Given the description of an element on the screen output the (x, y) to click on. 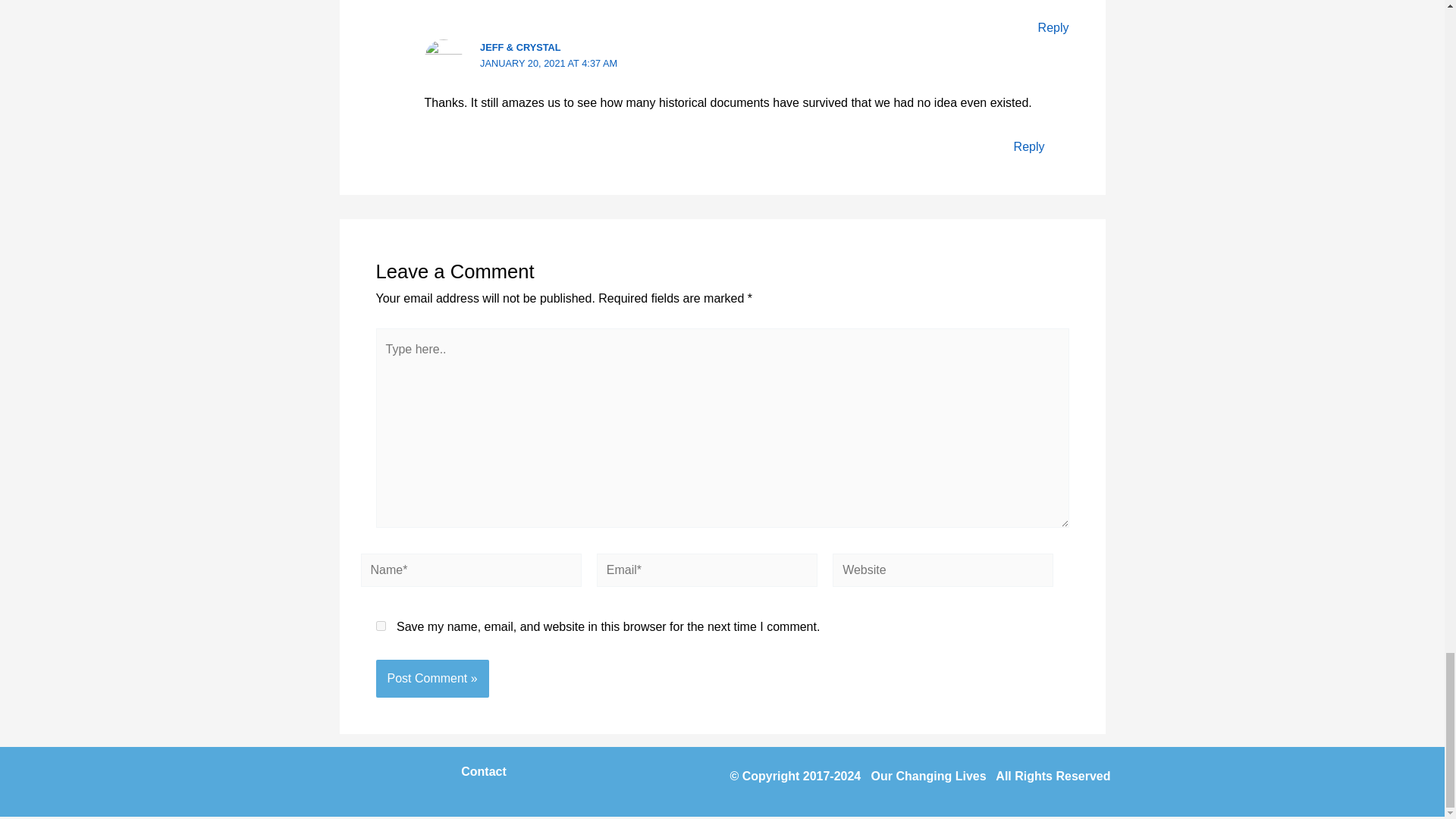
yes (380, 625)
